Given the description of an element on the screen output the (x, y) to click on. 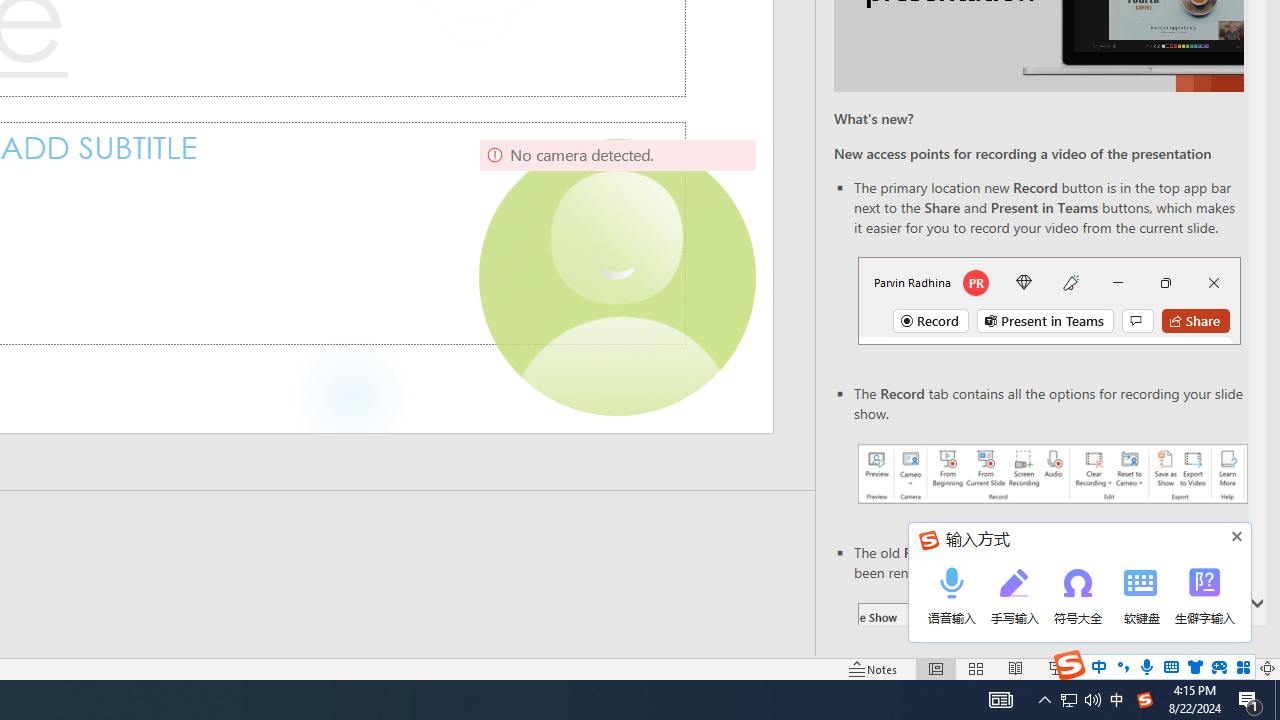
Record your presentations screenshot one (1052, 473)
Zoom 131% (1234, 668)
Record button in top bar (1049, 300)
